Given the description of an element on the screen output the (x, y) to click on. 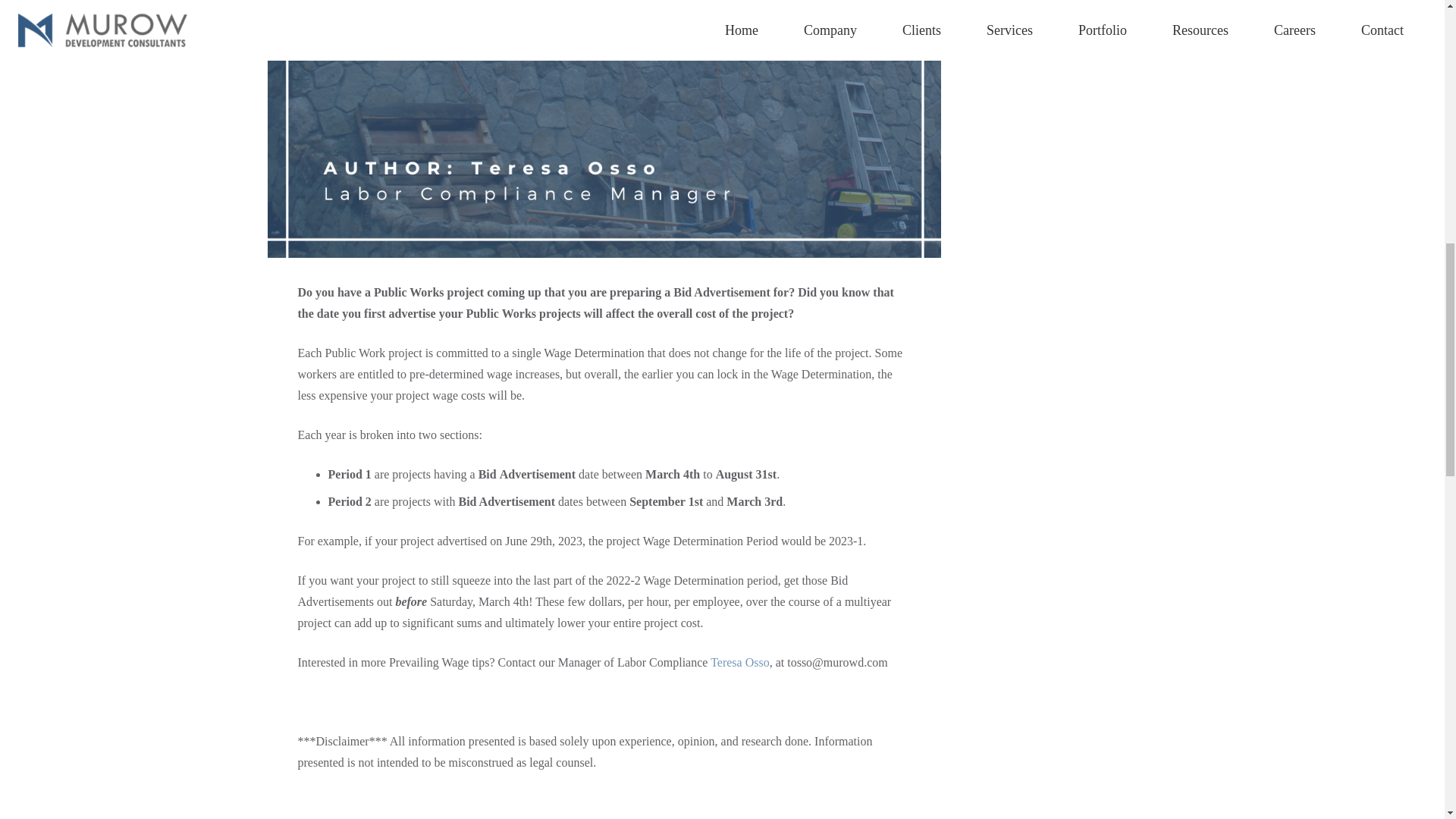
Teresa Osso (740, 662)
Back to top (30, 26)
